Given the description of an element on the screen output the (x, y) to click on. 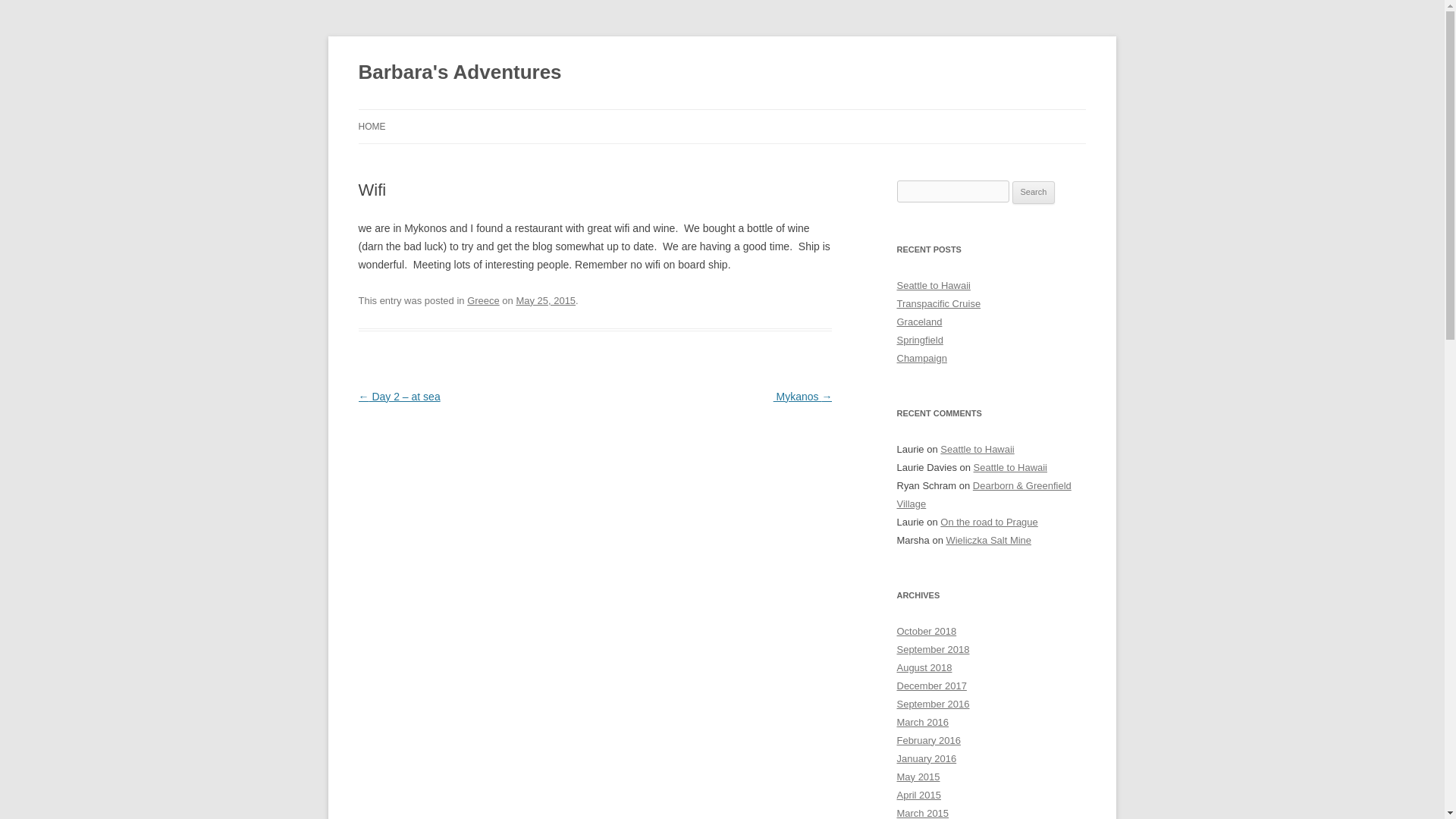
March 2016 (922, 722)
September 2016 (932, 704)
Graceland (919, 321)
May 25, 2015 (545, 300)
Seattle to Hawaii (1010, 467)
Seattle to Hawaii (932, 285)
September 2018 (932, 649)
December 2017 (931, 685)
October 2018 (926, 631)
Transpacific Cruise (937, 303)
March 2015 (922, 813)
February 2016 (927, 740)
Champaign (921, 357)
6:51 AM (545, 300)
